Given the description of an element on the screen output the (x, y) to click on. 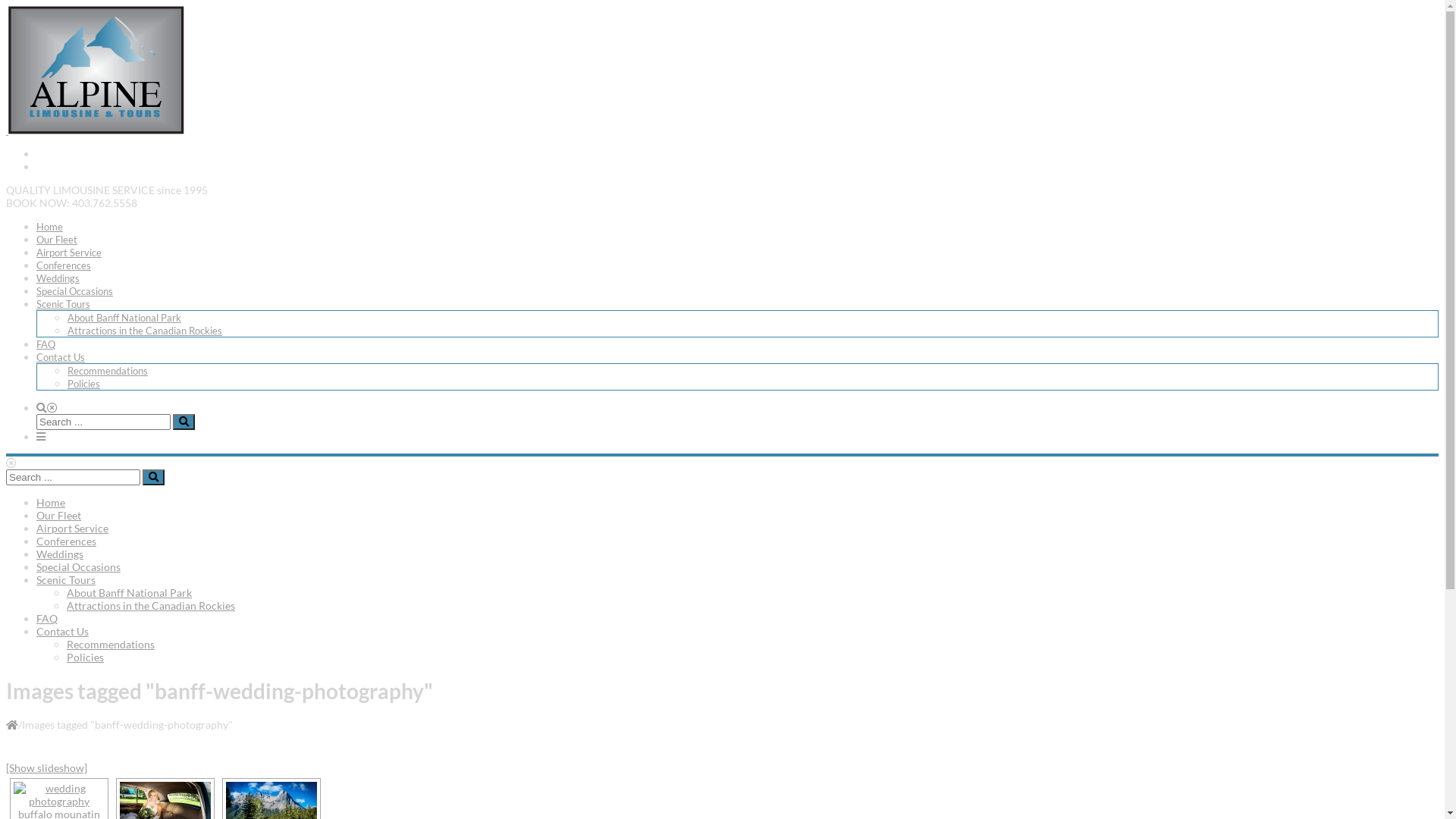
Weddings Element type: text (59, 553)
Conferences Element type: text (66, 540)
Alpine Limousine & Tours Element type: hover (95, 129)
[Show slideshow] Element type: text (46, 767)
Scenic Tours Element type: text (63, 304)
Home Element type: text (49, 226)
Our Fleet Element type: text (56, 239)
FAQ Element type: text (46, 617)
Special Occasions Element type: text (78, 566)
Home Element type: hover (12, 723)
Weddings Element type: text (57, 278)
Airport Service Element type: text (68, 252)
Attractions in the Canadian Rockies Element type: text (144, 330)
FAQ Element type: text (45, 344)
Contact Us Element type: text (62, 630)
About Banff National Park Element type: text (128, 592)
Airport Service Element type: text (72, 527)
Recommendations Element type: text (110, 643)
About Banff National Park Element type: text (124, 317)
Home Element type: text (50, 501)
Conferences Element type: text (63, 265)
Policies Element type: text (84, 656)
Attractions in the Canadian Rockies Element type: text (150, 605)
Our Fleet Element type: text (58, 514)
Special Occasions Element type: text (74, 291)
Scenic Tours Element type: text (65, 579)
Recommendations Element type: text (107, 370)
Contact Us Element type: text (60, 357)
Policies Element type: text (83, 383)
